Given the description of an element on the screen output the (x, y) to click on. 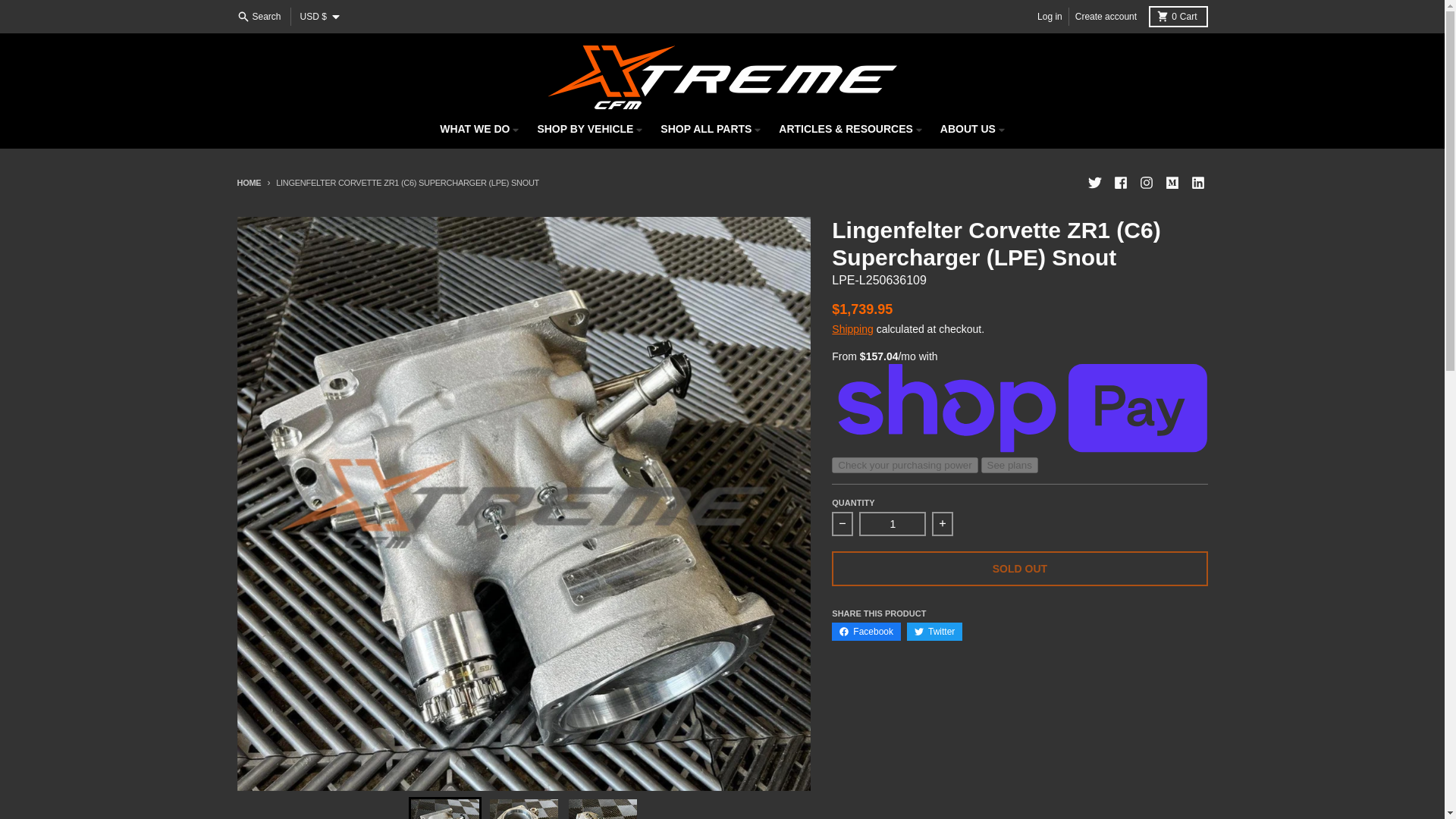
Back to the homepage (247, 182)
Log in (1049, 16)
LinkedIn - XtremeCFM (1197, 182)
Create account (1105, 16)
Instagram - XtremeCFM (1145, 182)
1 (892, 523)
Medium - XtremeCFM (1170, 182)
Search (259, 16)
Twitter - XtremeCFM (1093, 182)
Facebook - XtremeCFM (1119, 182)
